Given the description of an element on the screen output the (x, y) to click on. 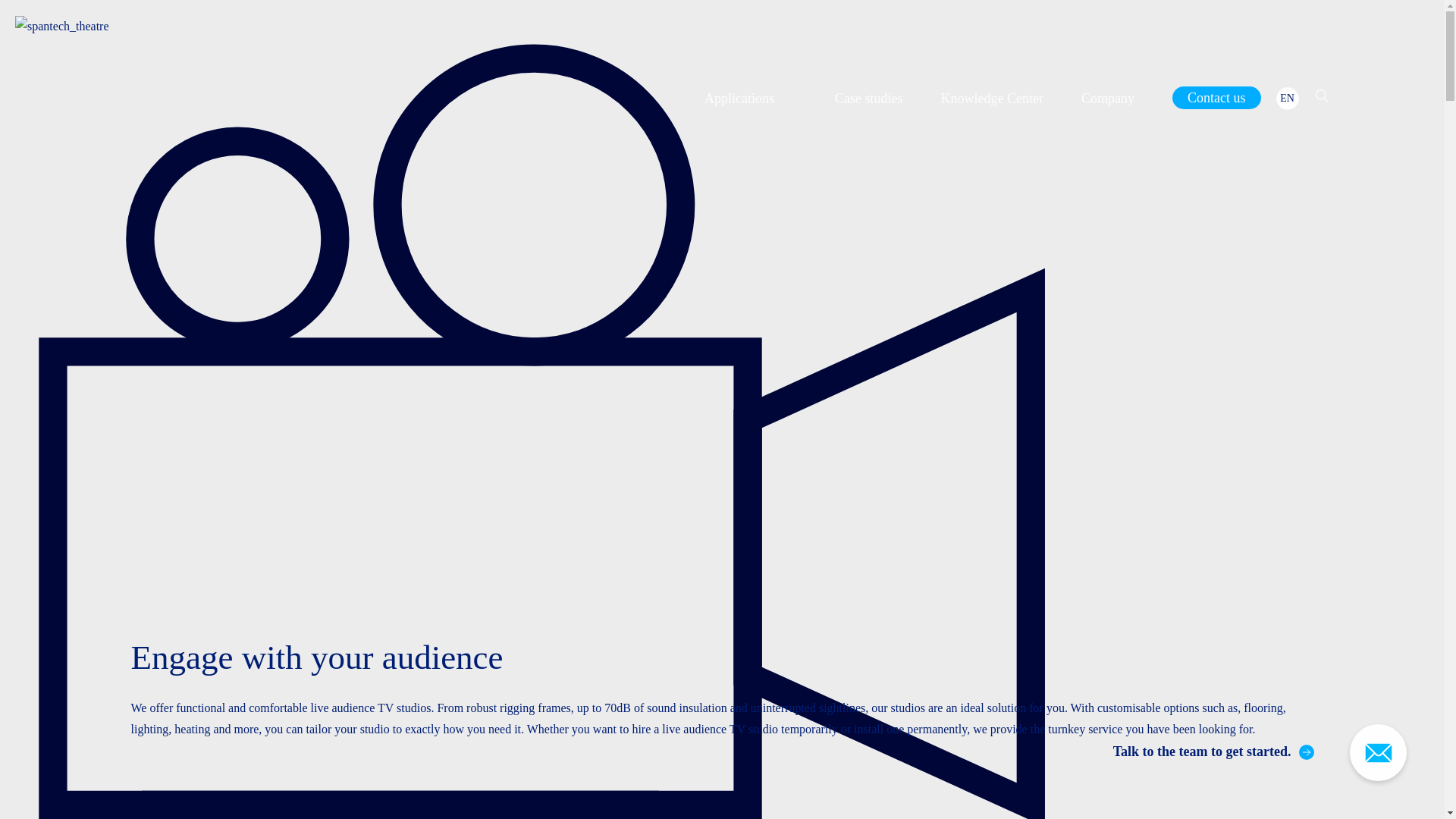
Applications (750, 98)
Case studies (868, 98)
Knowledge Center (991, 98)
Contact us (1216, 97)
Company (1107, 98)
Applications (750, 98)
